Given the description of an element on the screen output the (x, y) to click on. 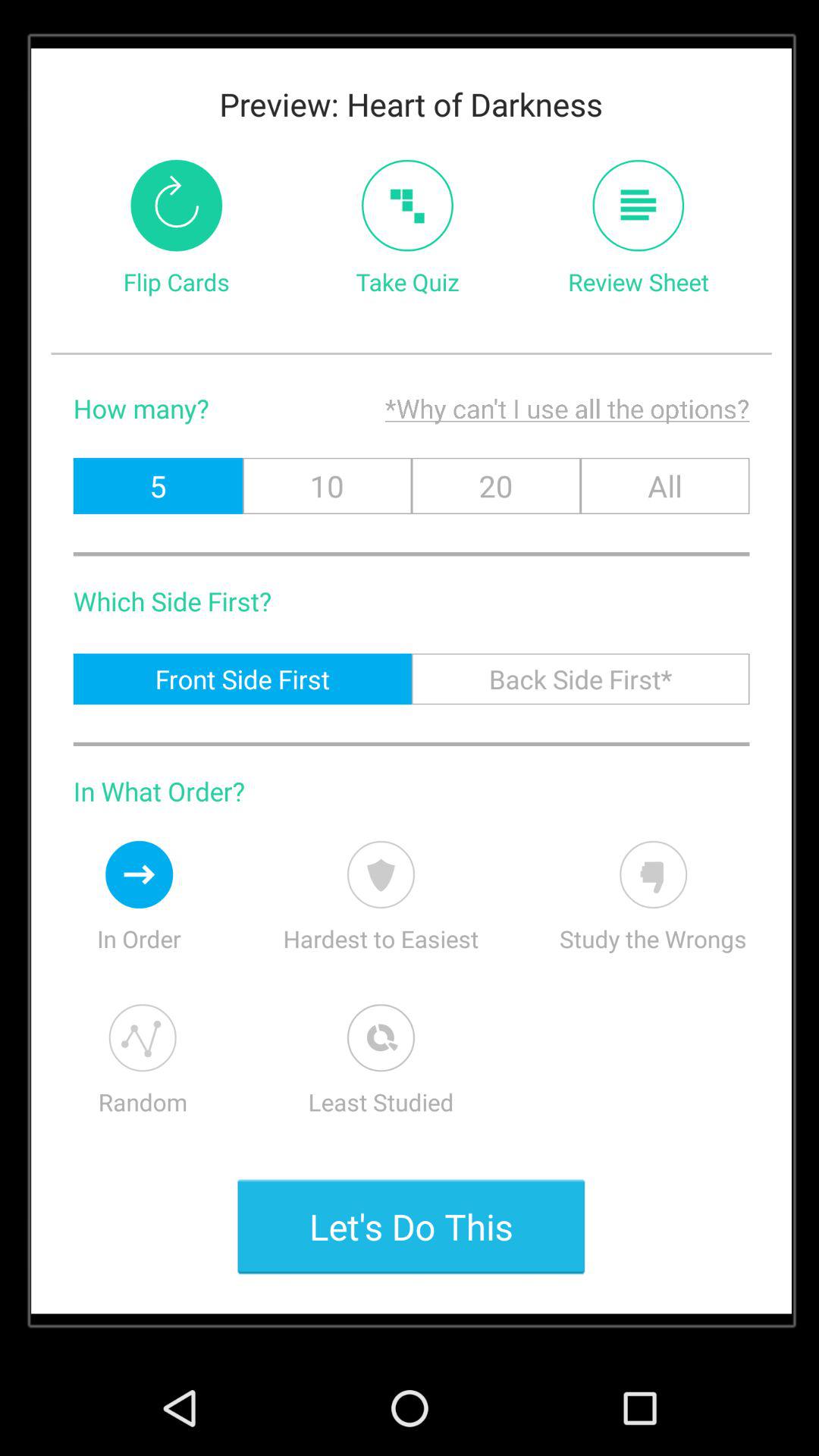
hardest to easiest option (380, 874)
